Given the description of an element on the screen output the (x, y) to click on. 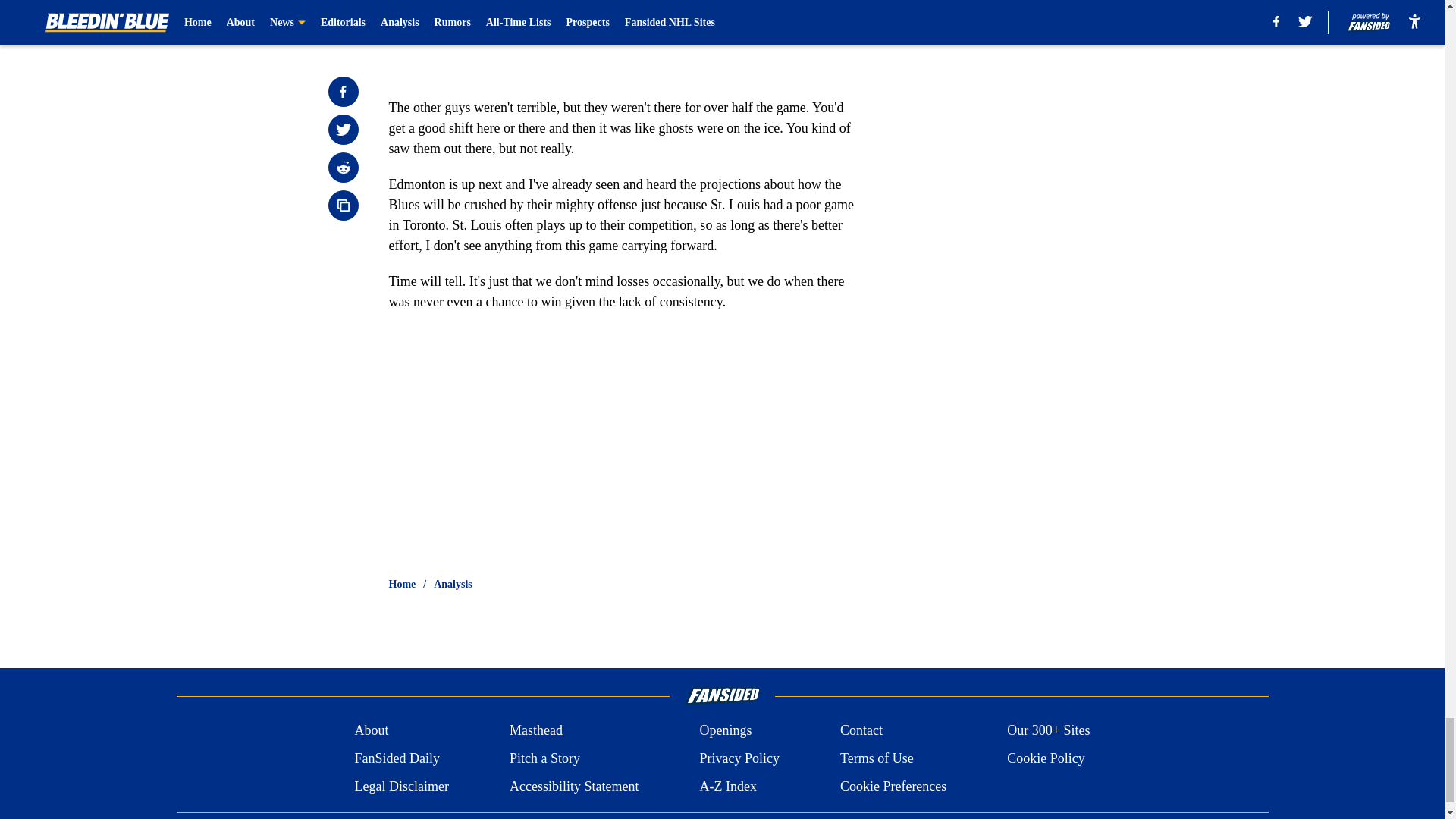
FanSided Daily (396, 758)
Privacy Policy (738, 758)
About (370, 730)
Contact (861, 730)
Pitch a Story (544, 758)
Terms of Use (877, 758)
Accessibility Statement (574, 786)
A-Z Index (726, 786)
Analysis (452, 584)
Home (401, 584)
Openings (724, 730)
Cookie Policy (1045, 758)
Masthead (535, 730)
Legal Disclaimer (400, 786)
